Given the description of an element on the screen output the (x, y) to click on. 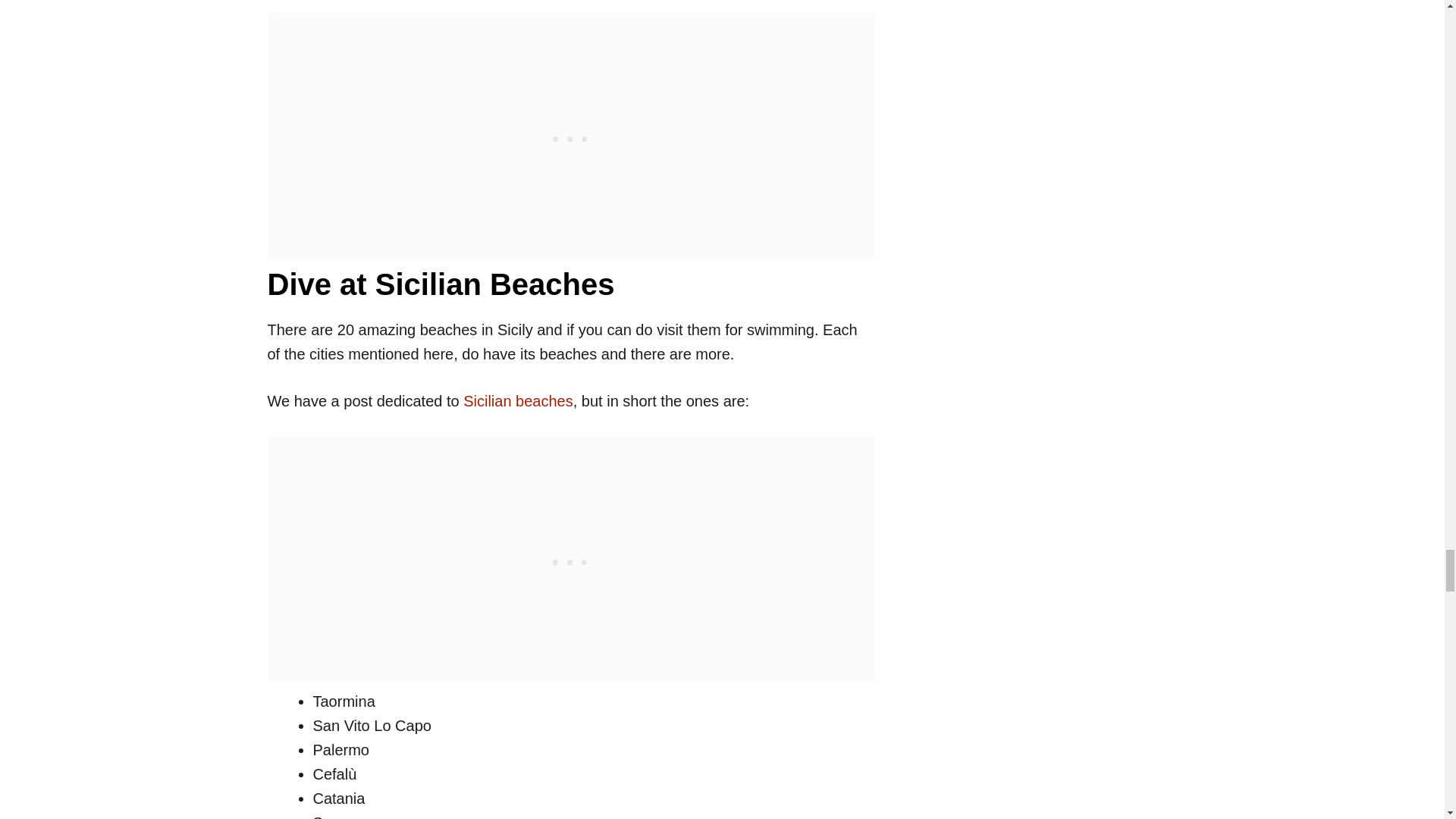
Sicilian beaches (518, 401)
